Given the description of an element on the screen output the (x, y) to click on. 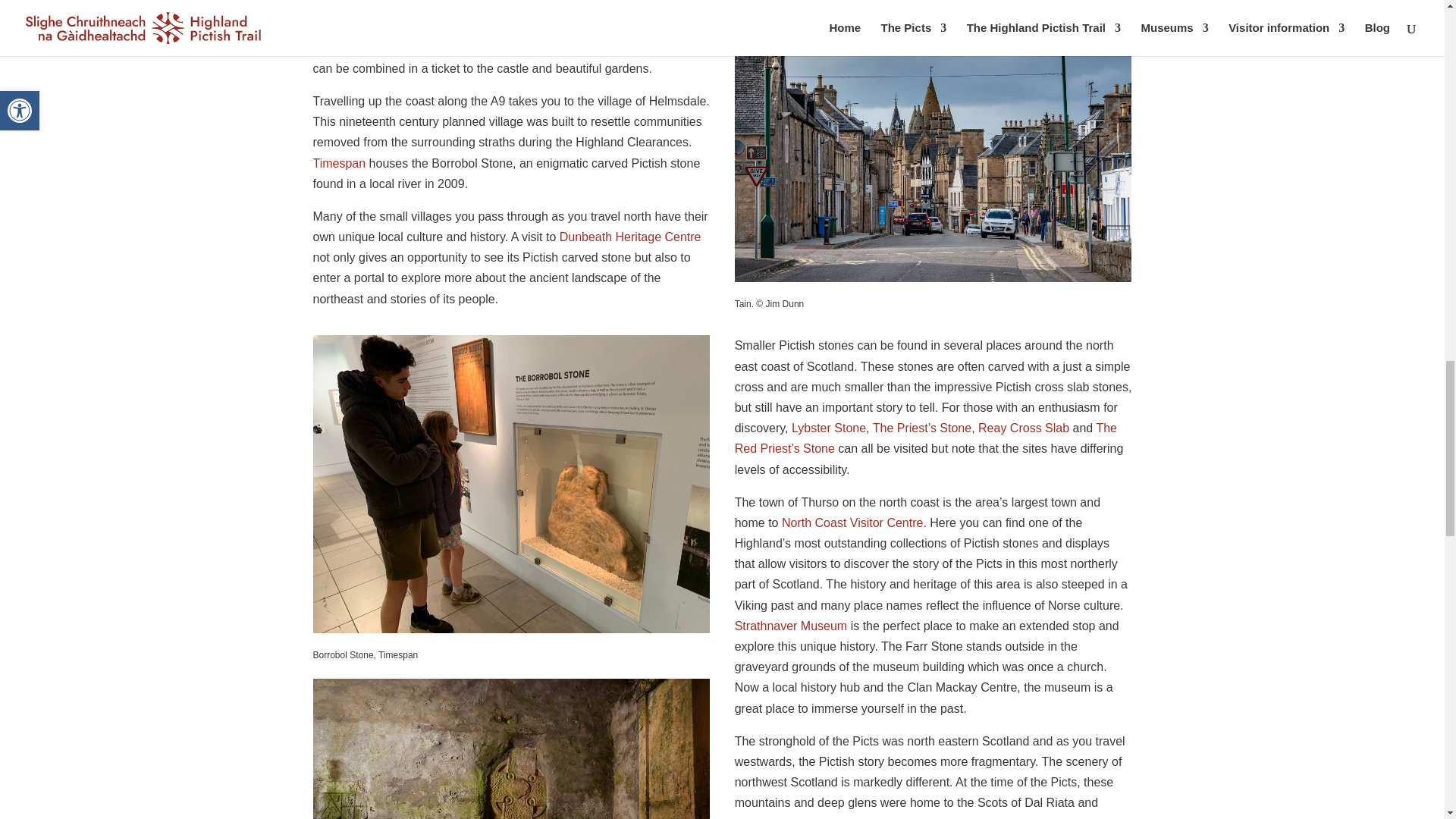
The Shandwick Stone (511, 748)
The Borrobol Stone at Timespan (511, 628)
The Borrobol Stone at Timespan (511, 483)
